Given the description of an element on the screen output the (x, y) to click on. 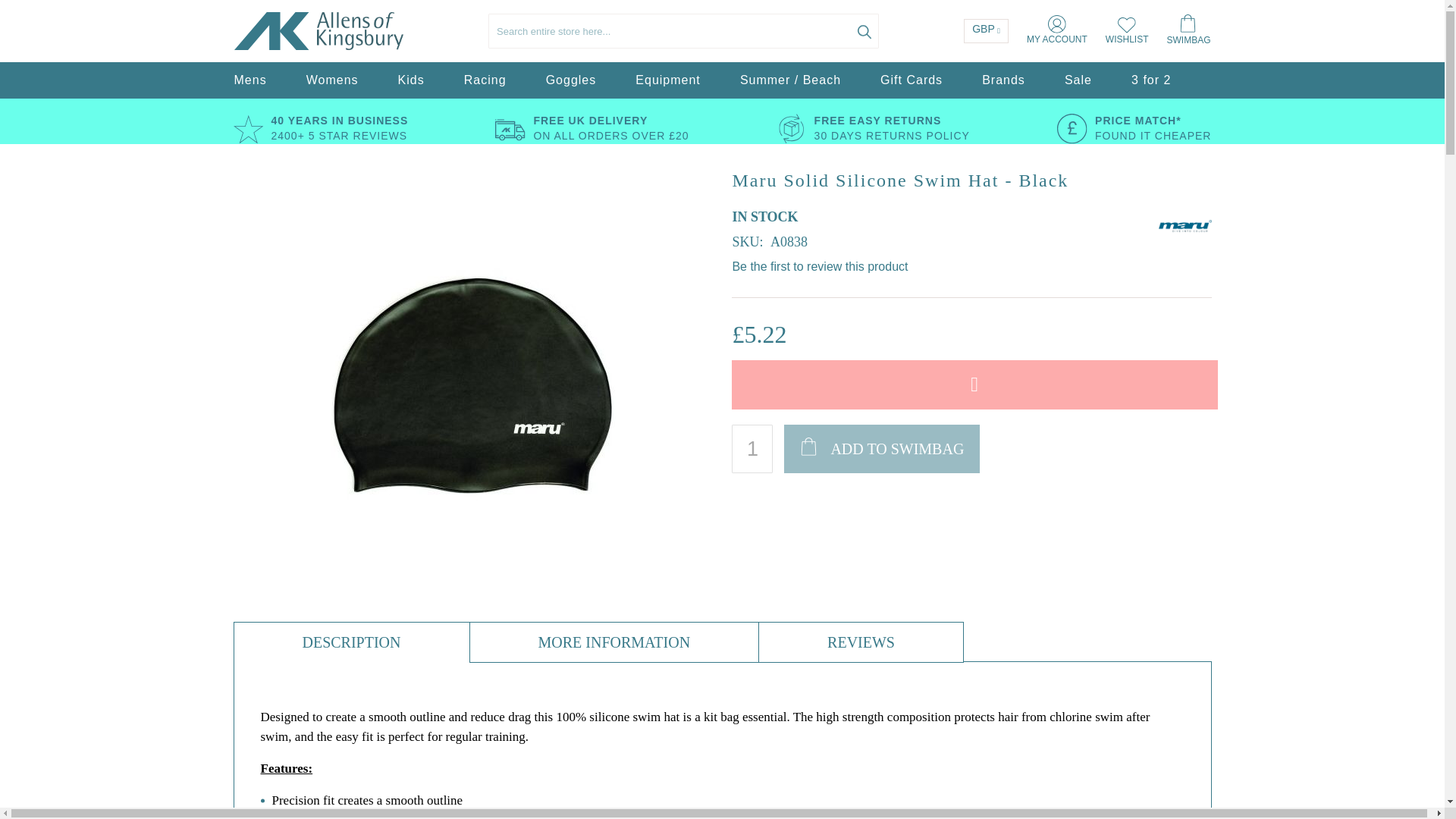
Mens (249, 80)
Mens (249, 80)
Allens Swimwear Logo (317, 31)
1 (752, 449)
Allens Swimwear Logo (270, 30)
